Given the description of an element on the screen output the (x, y) to click on. 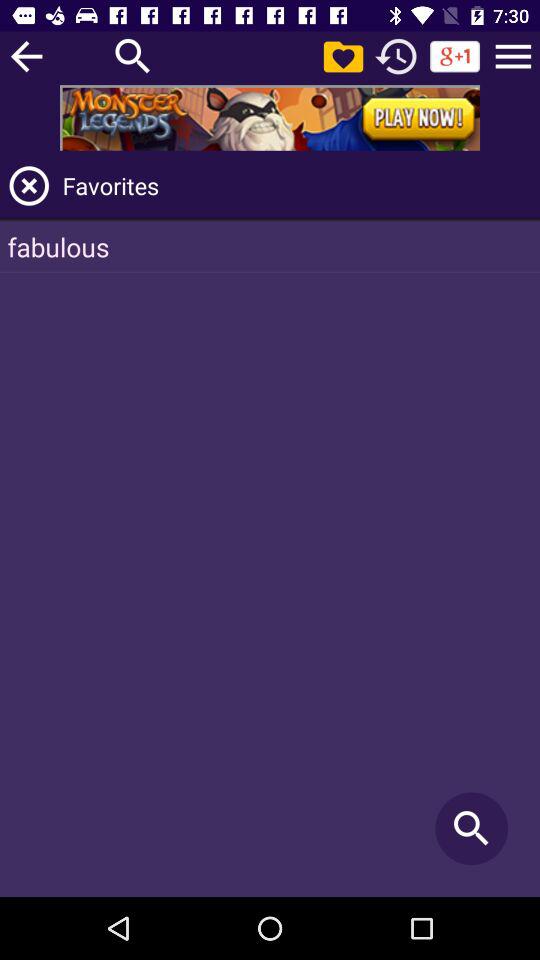
choose app below fabulous app (471, 828)
